Given the description of an element on the screen output the (x, y) to click on. 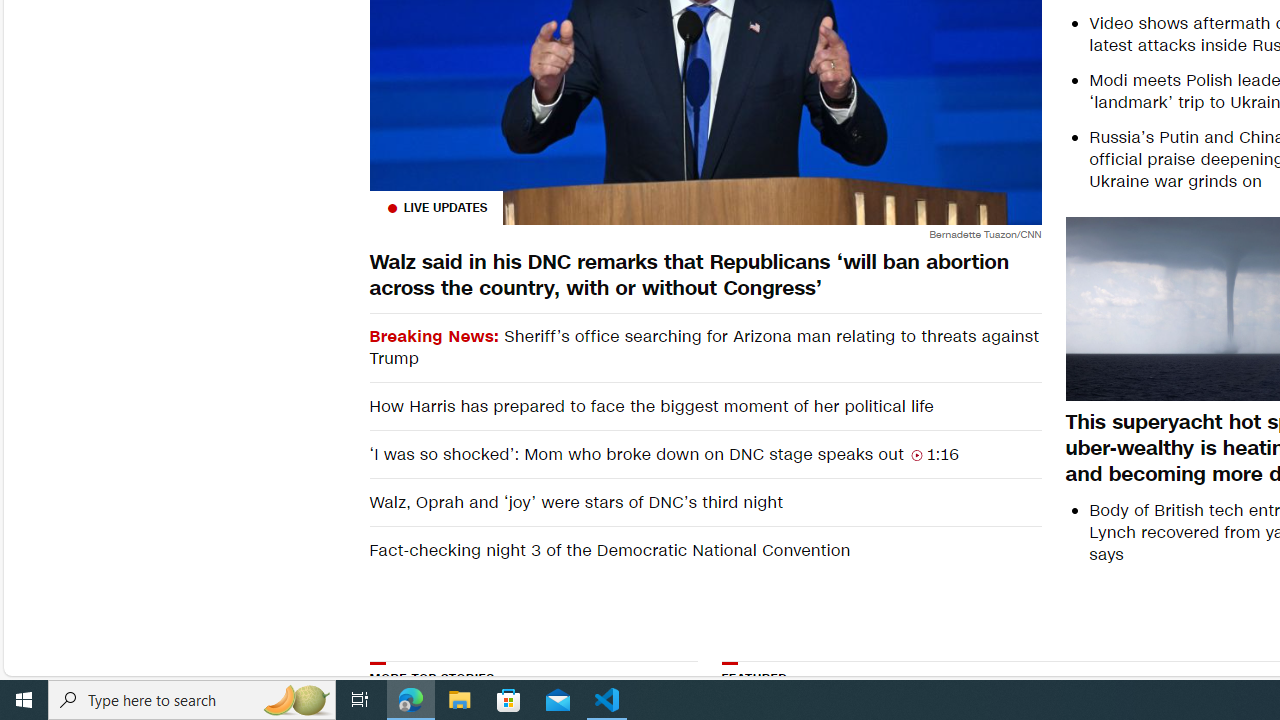
Fact-checking night 3 of the Democratic National Convention (704, 550)
Class: container__video-duration-icon (916, 454)
